Given the description of an element on the screen output the (x, y) to click on. 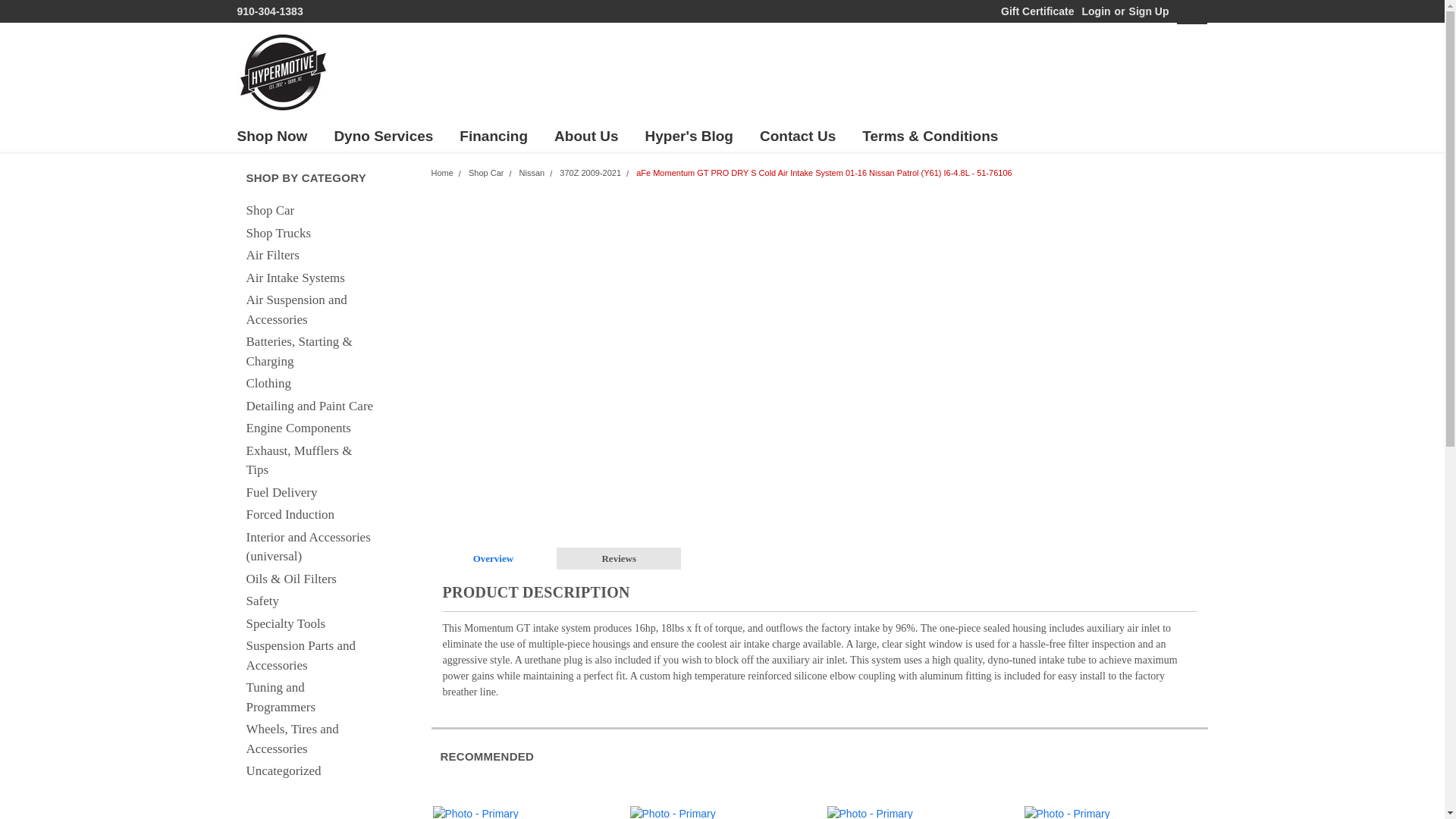
Login (1095, 11)
Hypermotive Performance LLC (281, 71)
Sign Up (1147, 11)
Gift Certificate (1033, 11)
